Given the description of an element on the screen output the (x, y) to click on. 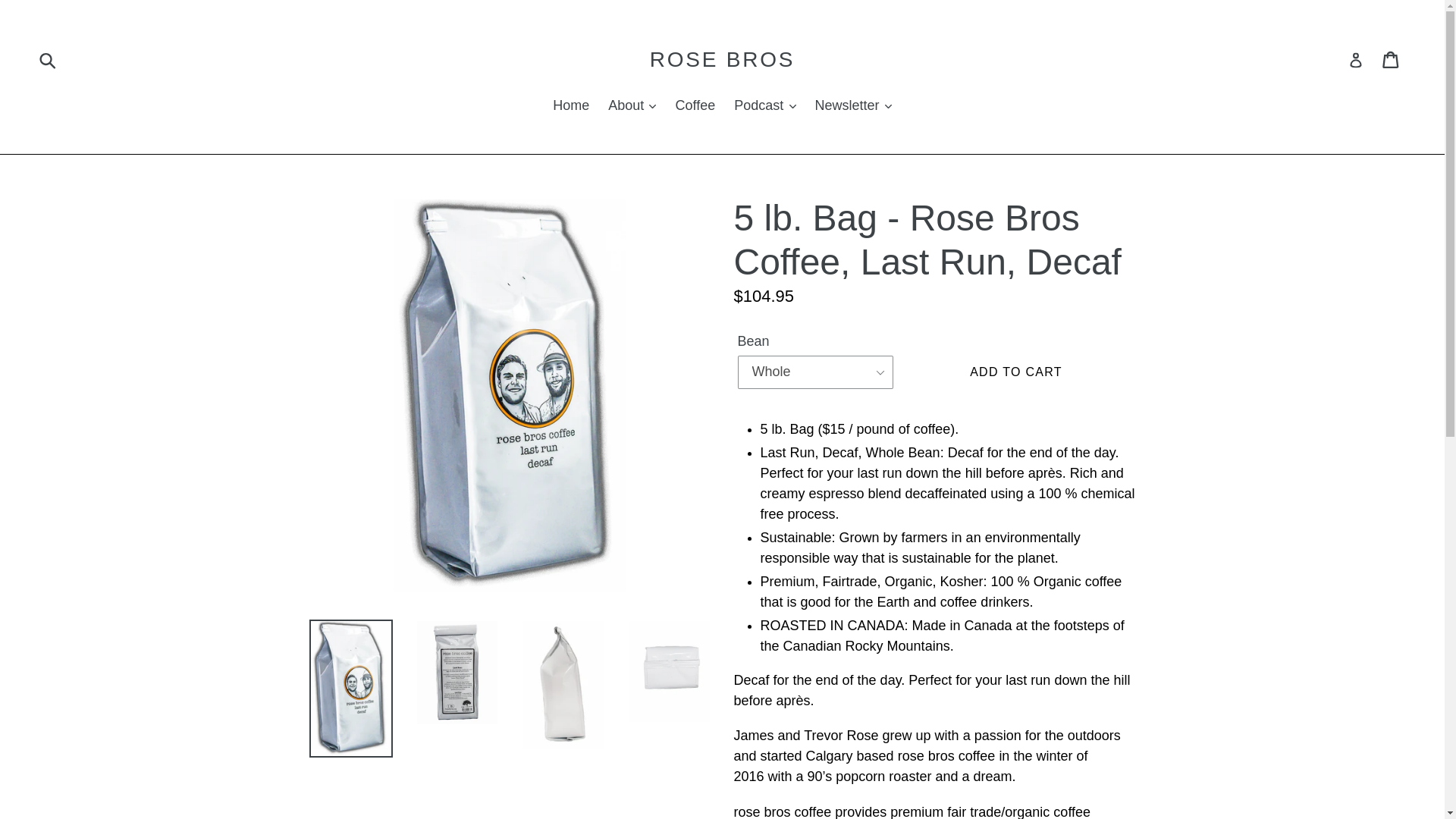
Log in (1355, 59)
ROSE BROS (721, 59)
Submit (48, 59)
Coffee (694, 106)
Cart (1391, 59)
ADD TO CART (1016, 372)
Home (570, 106)
